Given the description of an element on the screen output the (x, y) to click on. 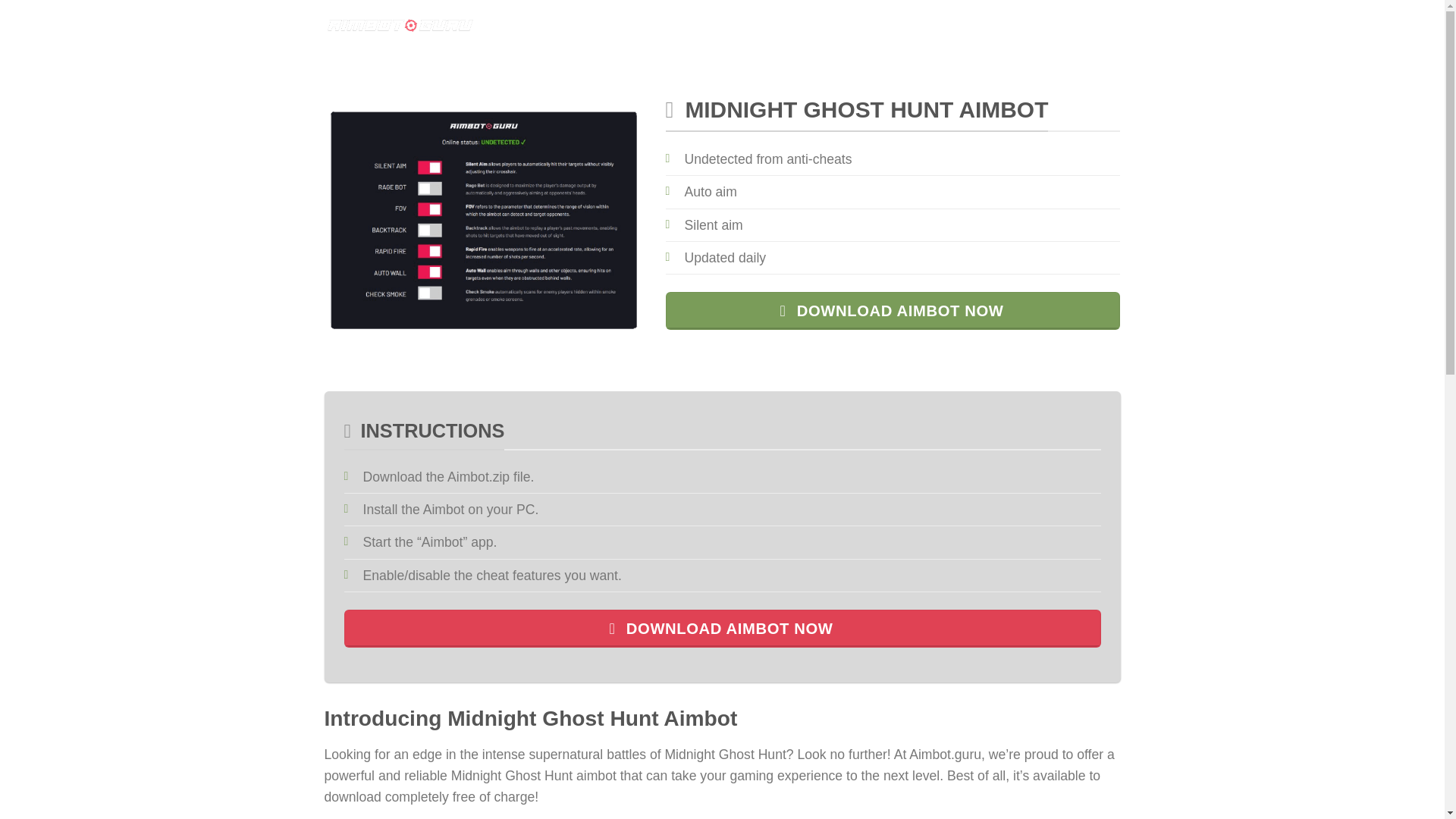
DOWNLOAD AIMBOT NOW (893, 310)
AIMBOTS (546, 25)
Aimbot Guru - Undetected aimbots for games (400, 25)
DOWNLOAD AIMBOT NOW (721, 628)
